Given the description of an element on the screen output the (x, y) to click on. 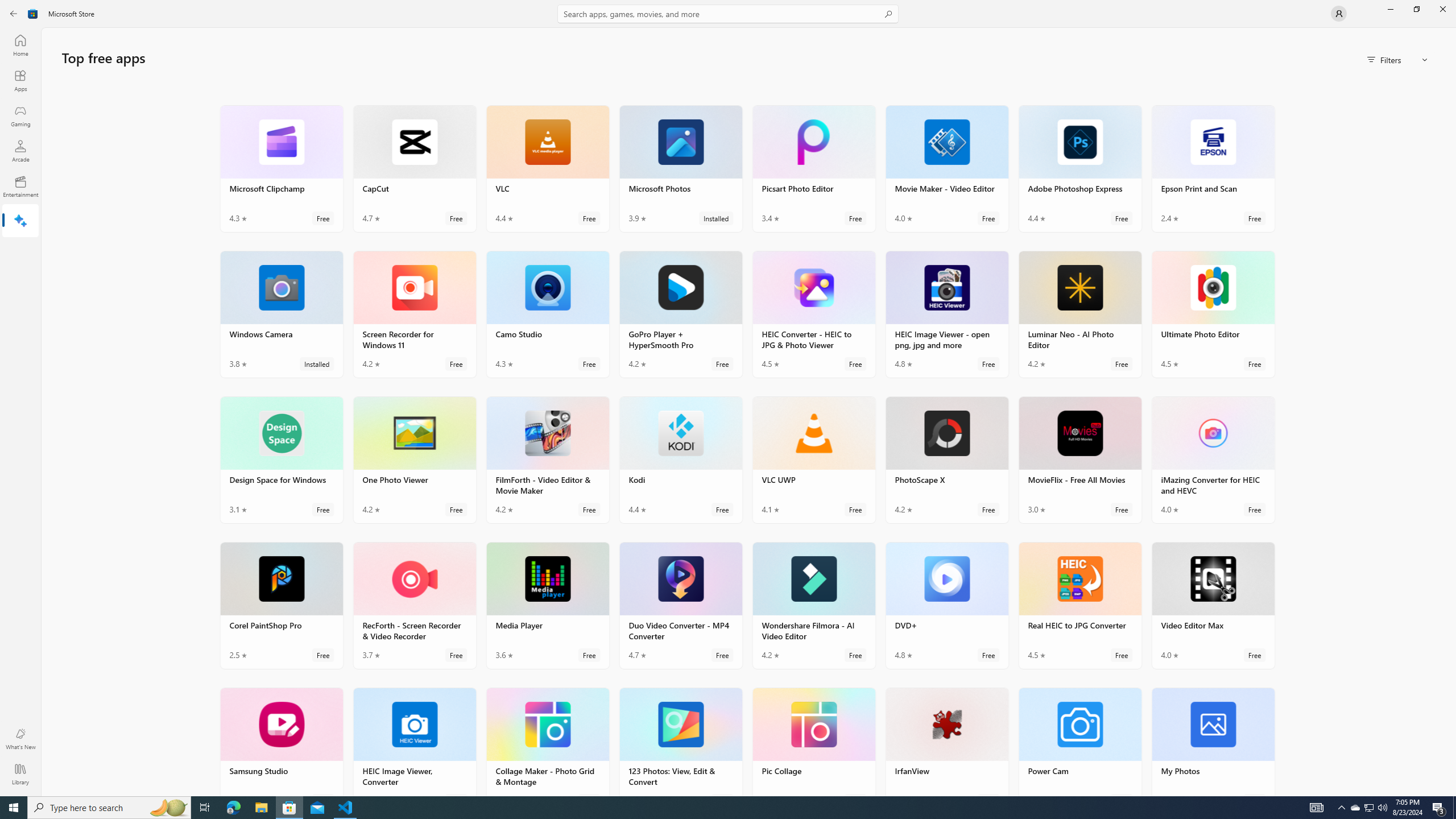
DVD+. Average rating of 4.8 out of five stars. Free   (947, 605)
